Given the description of an element on the screen output the (x, y) to click on. 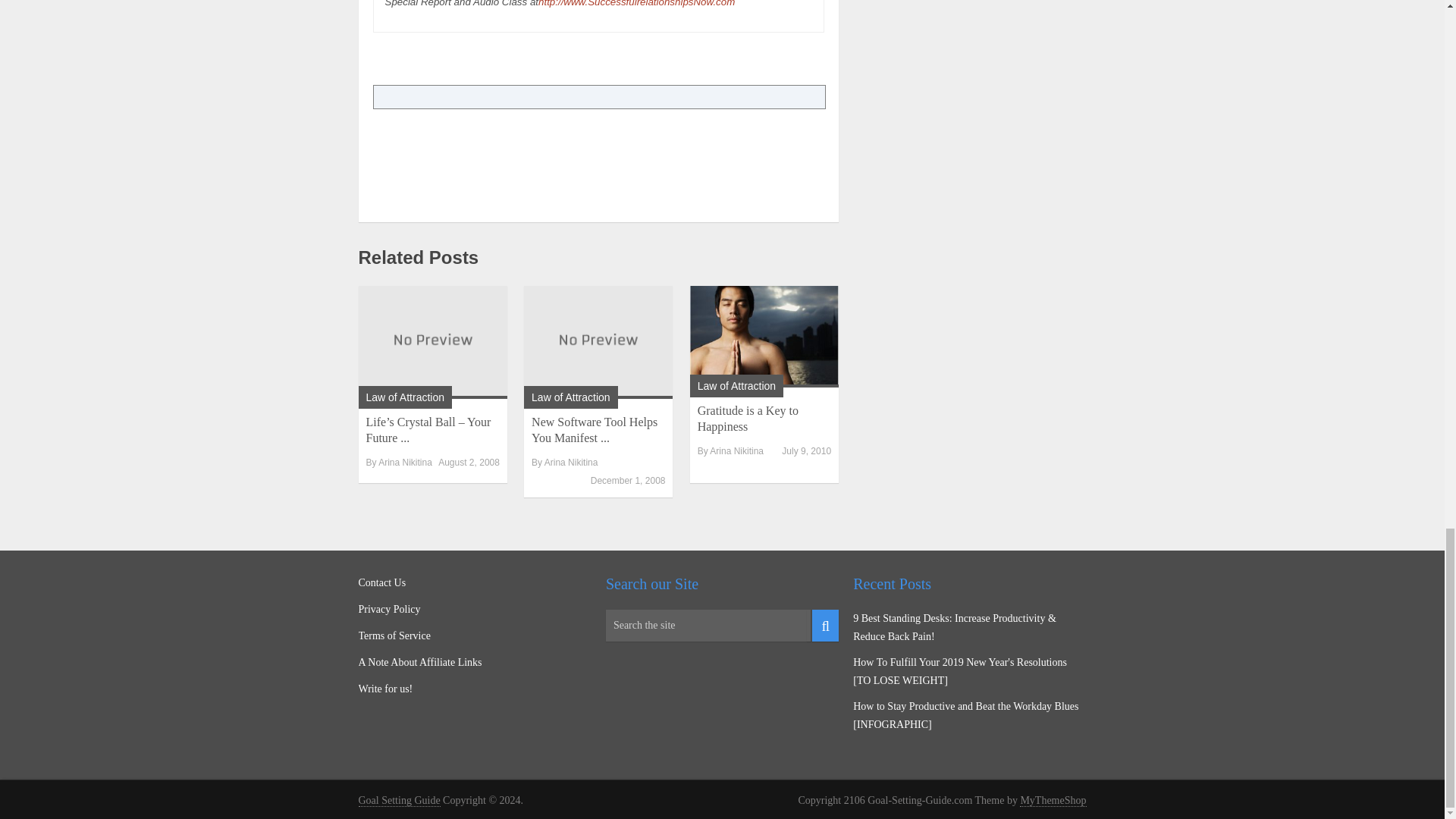
View all posts in Law of Attraction (570, 397)
Law of Attraction (404, 397)
Posts by Arina Nikitina (571, 462)
Posts by Arina Nikitina (405, 462)
Gratitude is a Key to Happiness (747, 418)
Arina Nikitina (571, 462)
Law of Attraction (736, 386)
Law of Attraction (570, 397)
New Software Tool Helps You Manifest ... (594, 429)
Arina Nikitina (736, 450)
Arina Nikitina (405, 462)
View all posts in Law of Attraction (736, 386)
View all posts in Law of Attraction (404, 397)
Gratitude is a Key to Happiness (764, 336)
